Given the description of an element on the screen output the (x, y) to click on. 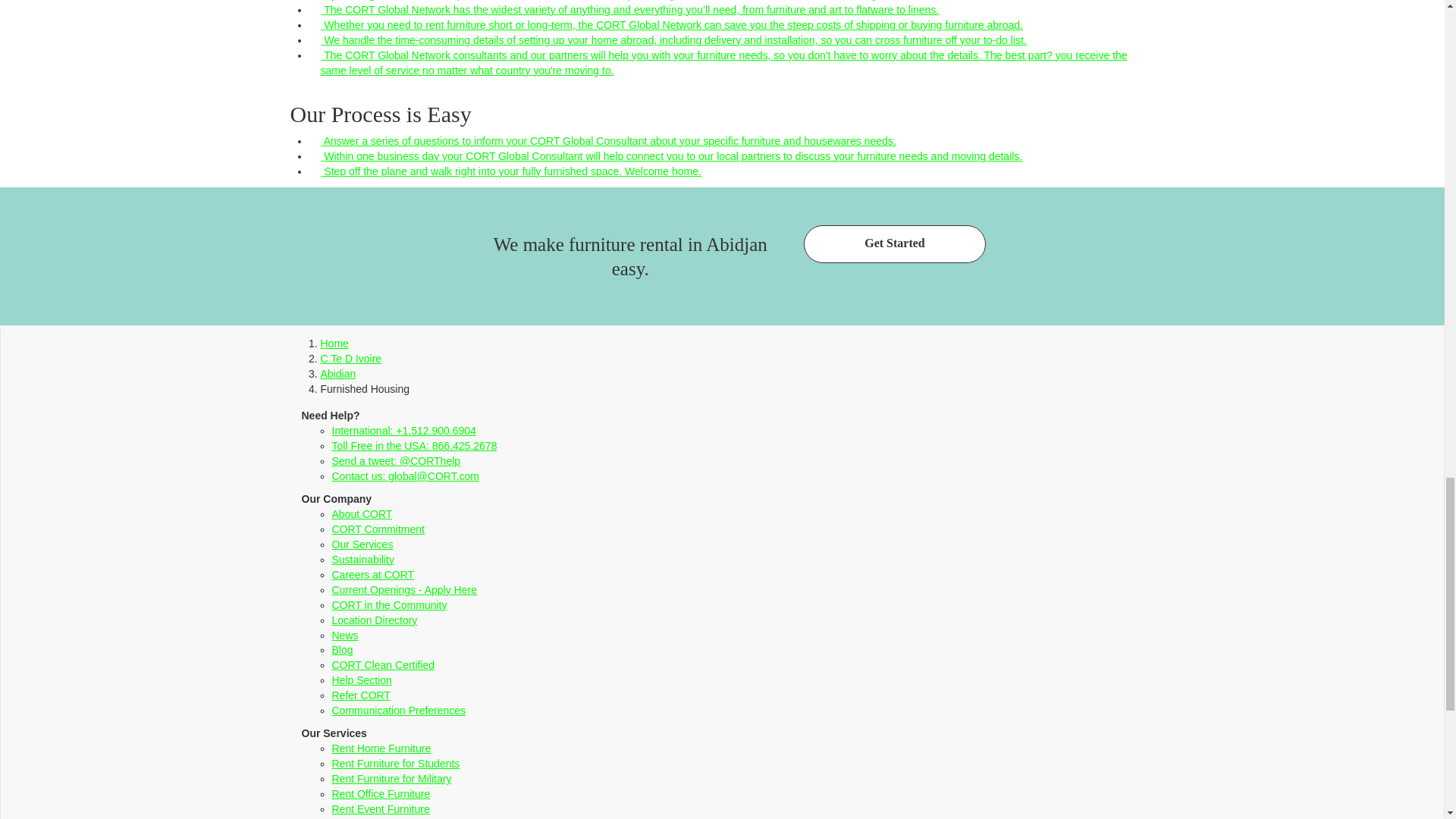
Home (333, 343)
About CORT (362, 513)
Toll Free in the USA: 866.425.2678 (414, 445)
Abidjan (337, 373)
CORT Commitment (378, 529)
C Te D Ivoire (350, 358)
Sustainability (362, 559)
Get Started (894, 243)
Our Services (362, 544)
